Given the description of an element on the screen output the (x, y) to click on. 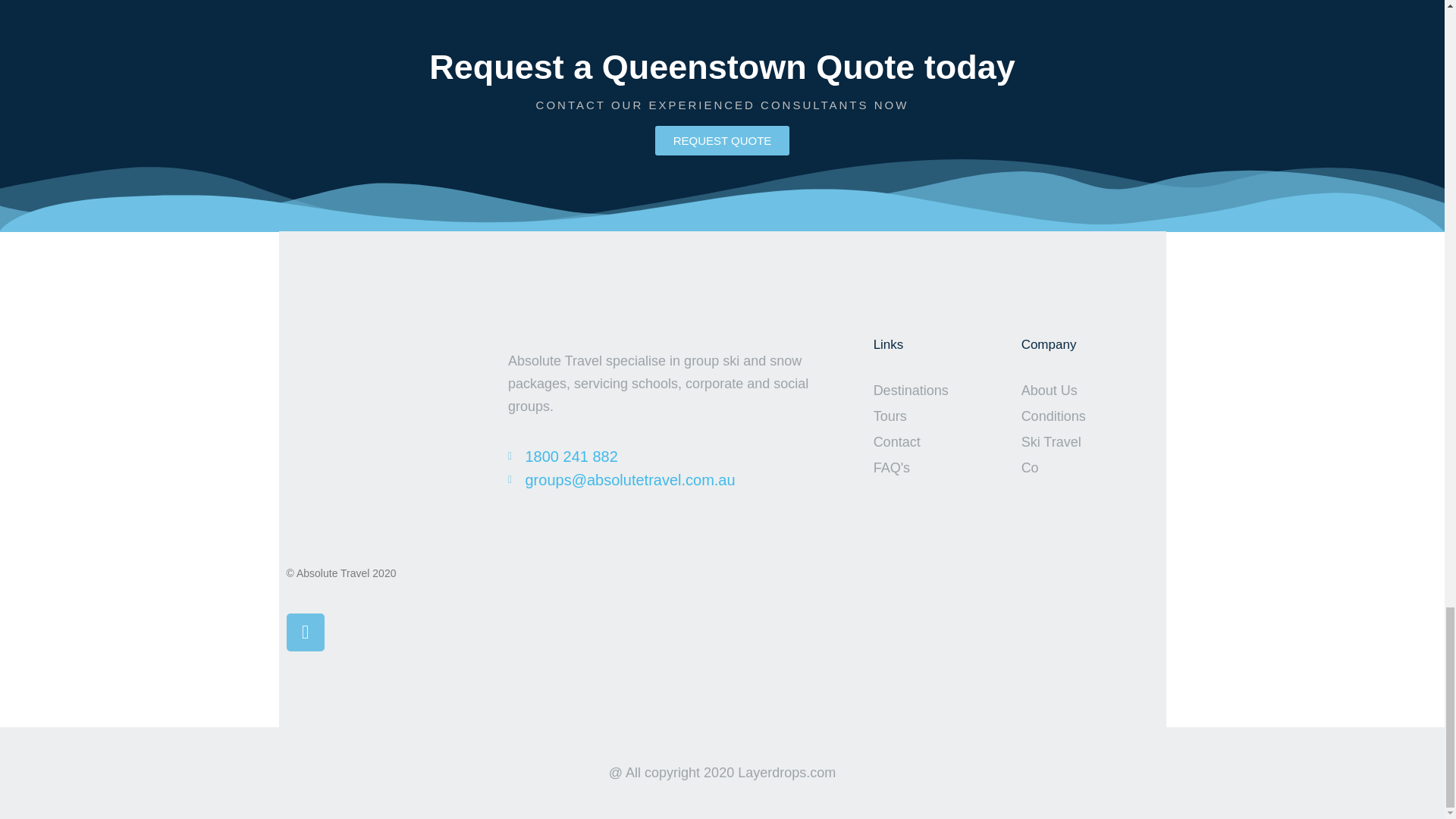
1800 241 882 (660, 455)
REQUEST QUOTE (722, 140)
Destinations (907, 390)
CONTACT OUR EXPERIENCED CONSULTANTS NOW (721, 104)
